Given the description of an element on the screen output the (x, y) to click on. 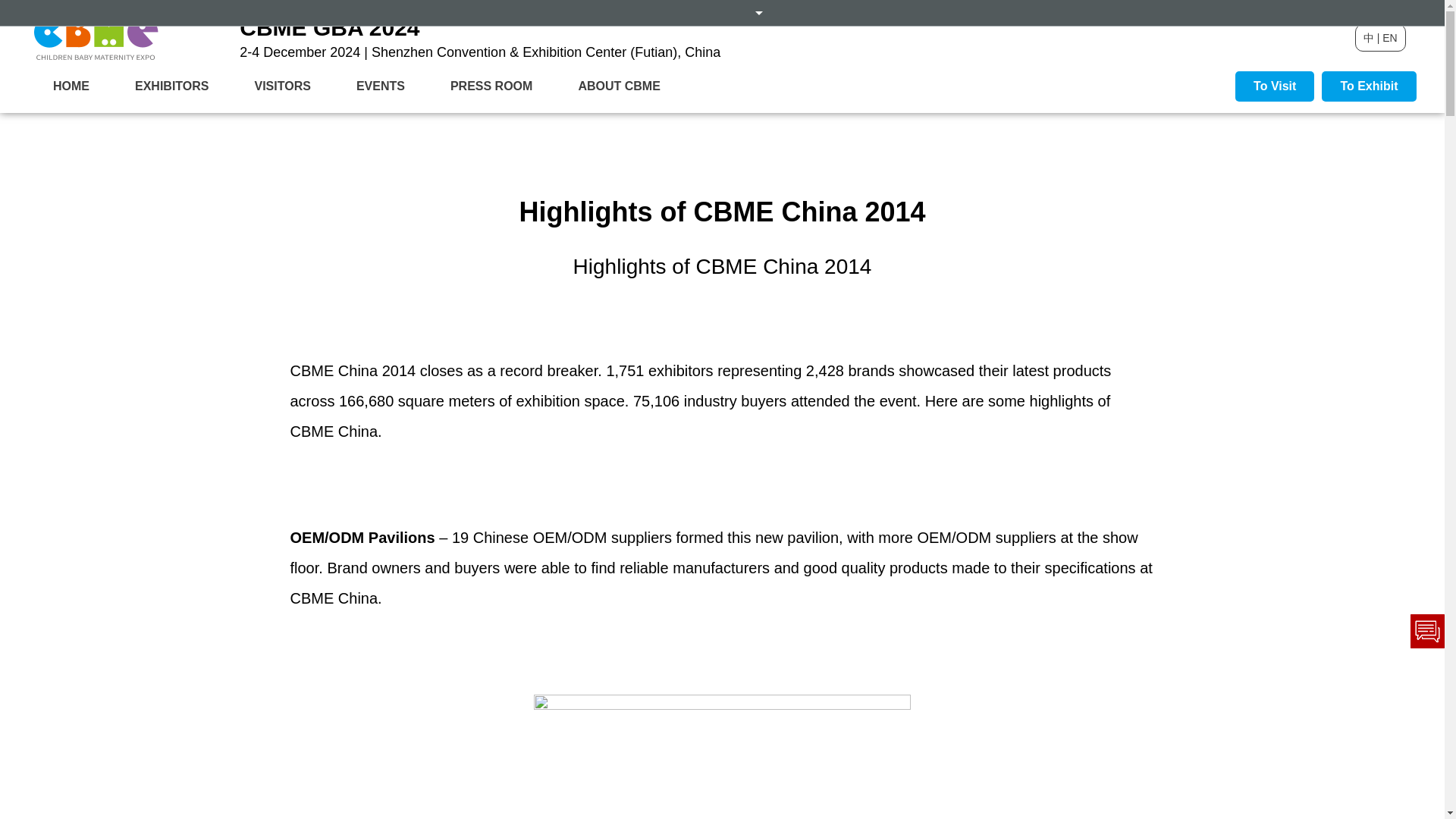
To Exhibit (1368, 86)
Informa (722, 11)
PRESS ROOM (491, 86)
EXHIBITORS (171, 86)
HOME (71, 86)
ABOUT CBME (618, 86)
To Visit (1274, 86)
EN (1388, 37)
oem (722, 754)
EVENTS (380, 86)
